Given the description of an element on the screen output the (x, y) to click on. 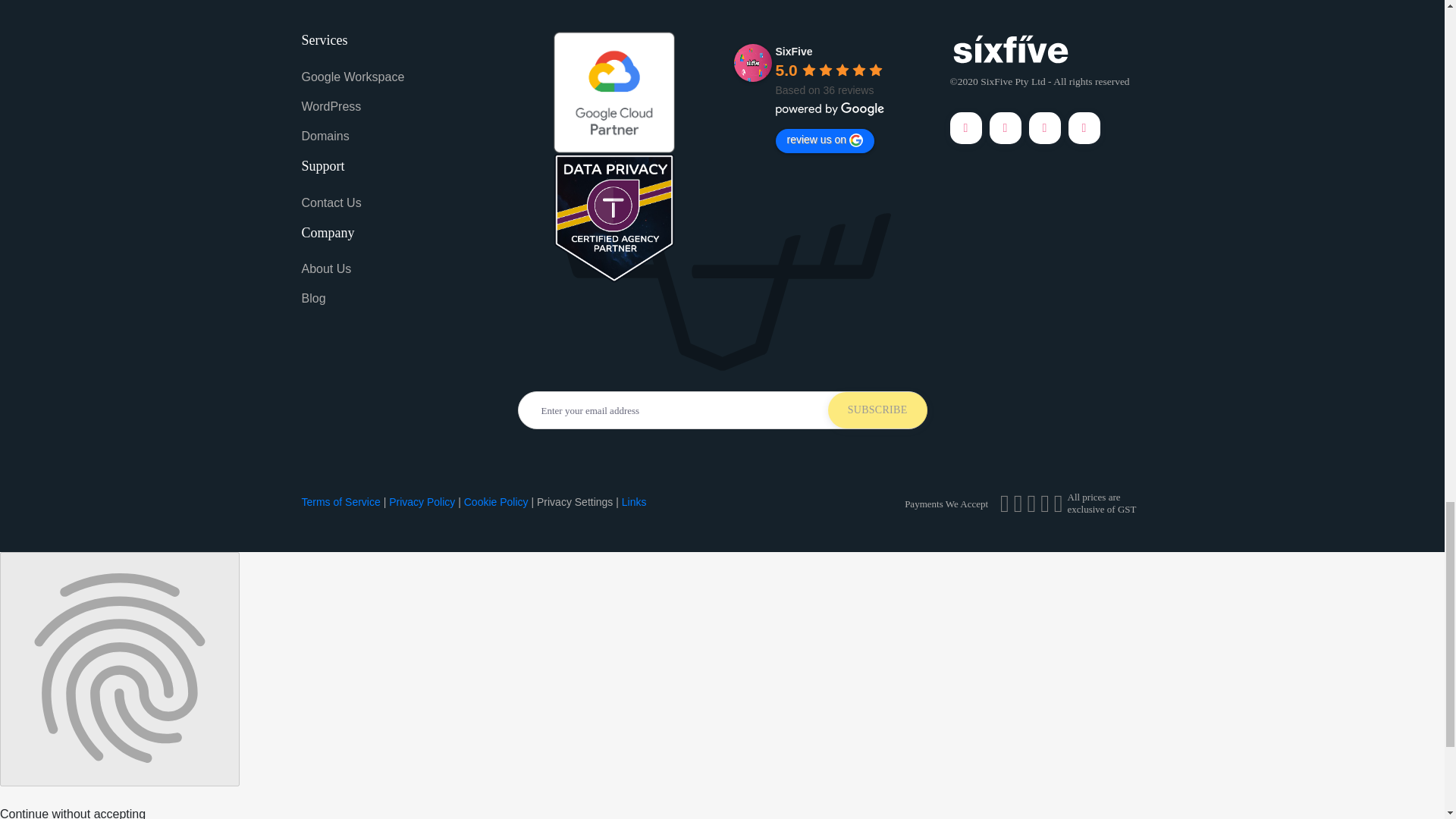
SixFive (752, 62)
powered by Google (828, 109)
